Given the description of an element on the screen output the (x, y) to click on. 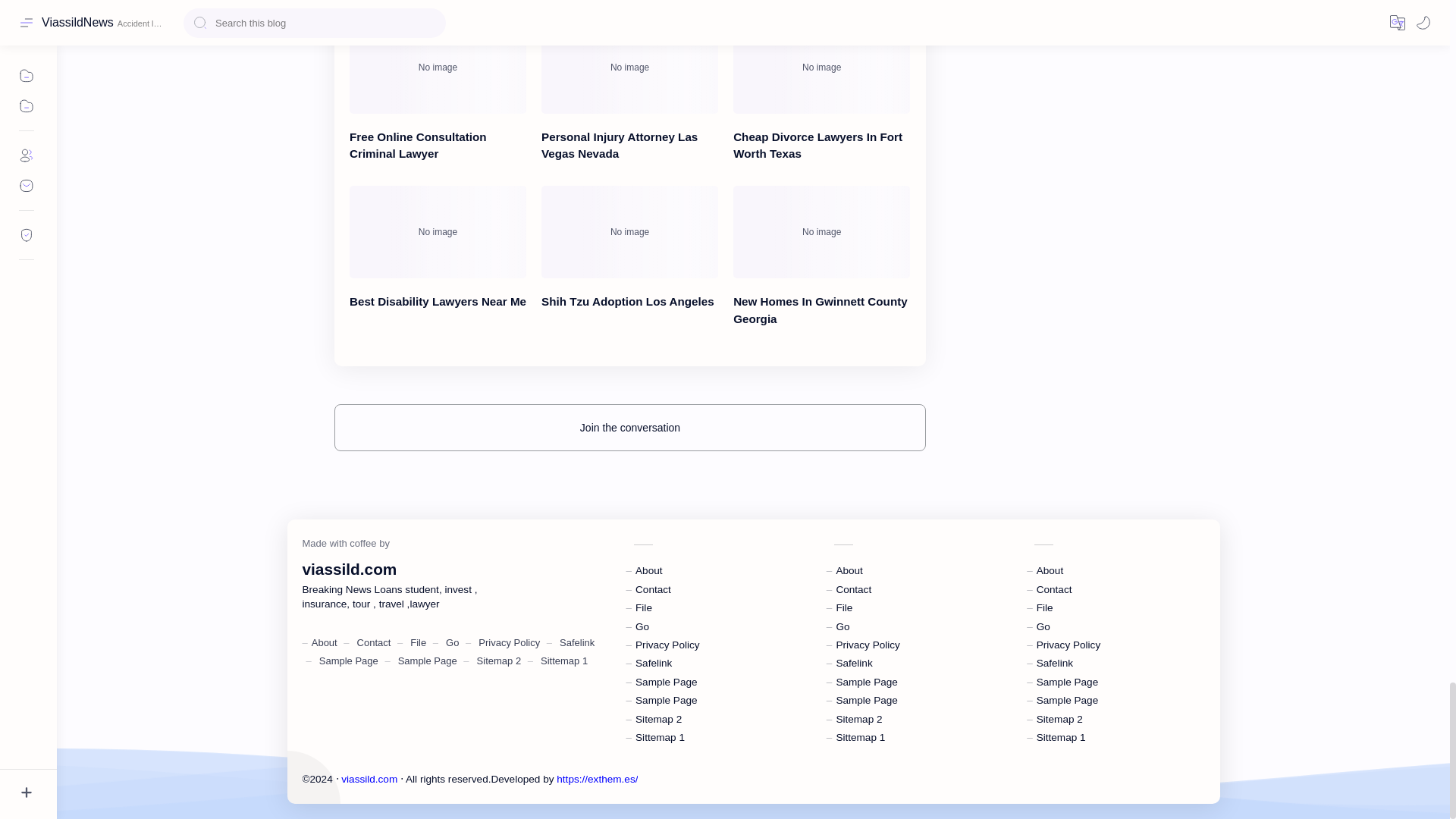
New Homes In Gwinnett County Georgia (821, 231)
Shih Tzu Adoption Los Angeles (629, 231)
Personal Injury Attorney Las Vegas Nevada (629, 67)
Best Disability Lawyers Near Me (437, 231)
Free Online Consultation Criminal Lawyer (437, 67)
Cheap Divorce Lawyers In Fort Worth Texas (821, 67)
